Given the description of an element on the screen output the (x, y) to click on. 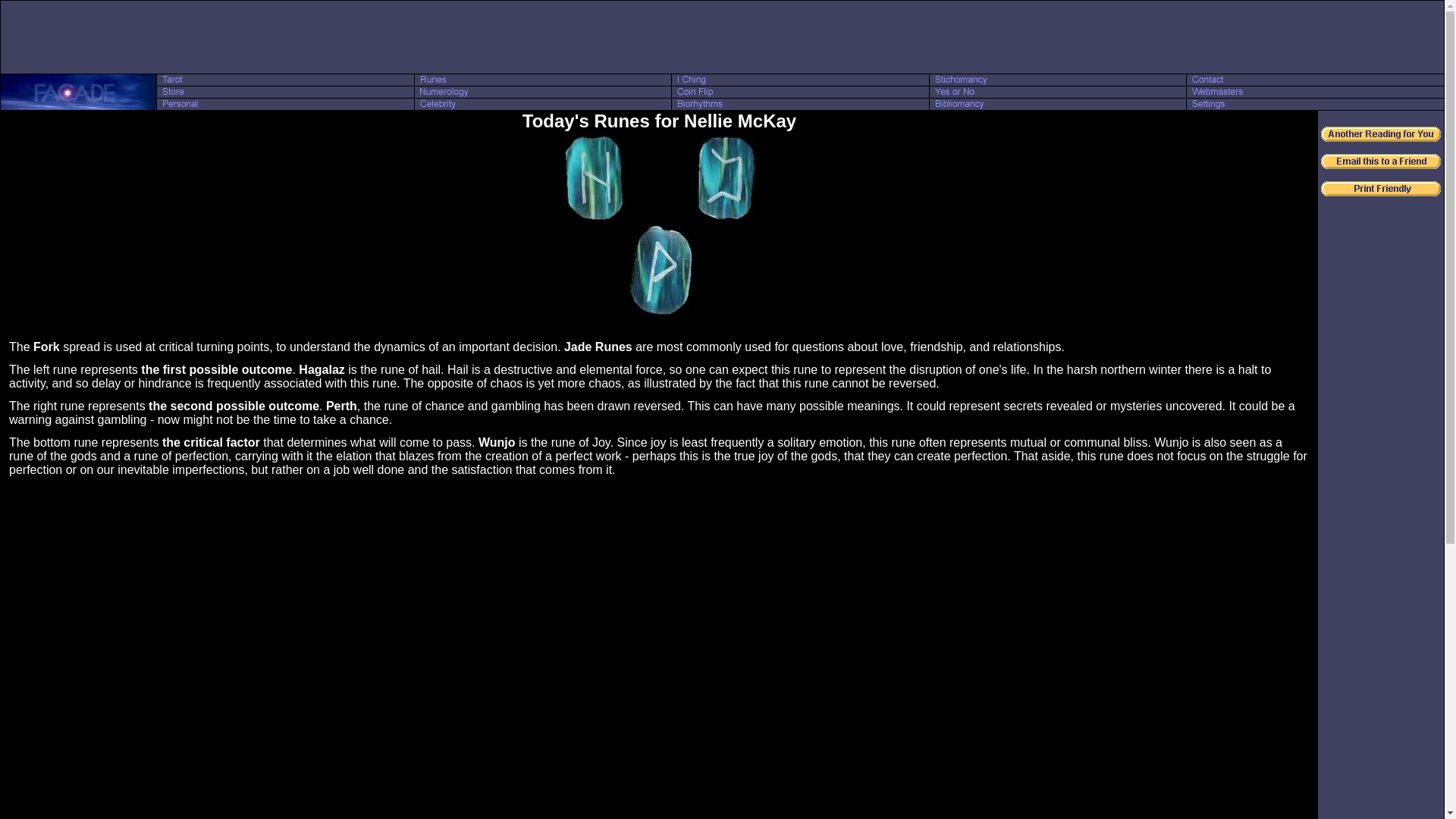
Advertisement (721, 37)
